Given the description of an element on the screen output the (x, y) to click on. 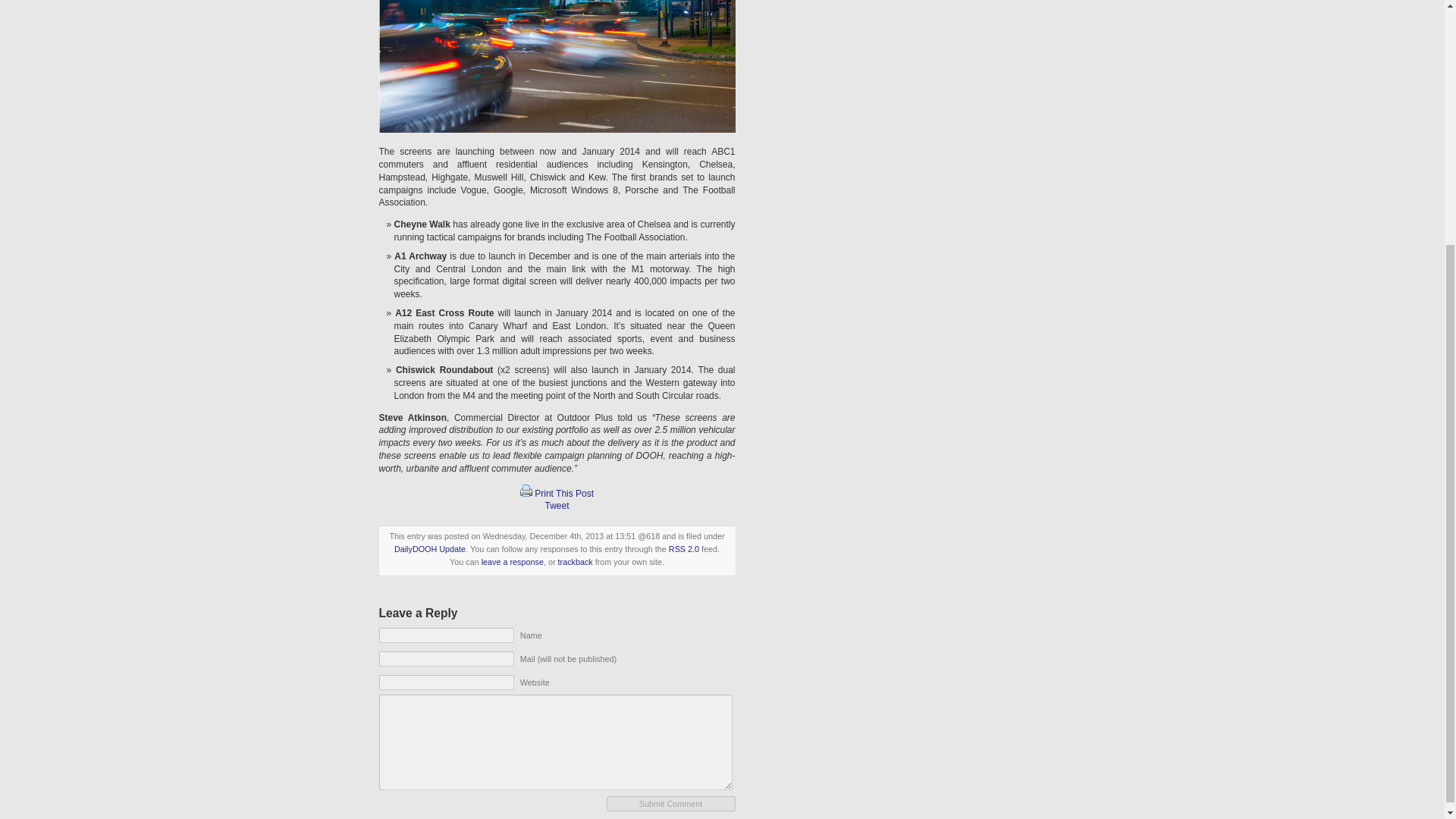
DailyDOOH Update (429, 548)
Print This Post (525, 490)
leave a response (512, 560)
Submit Comment (671, 803)
Tweet (556, 505)
Print This Post (564, 493)
RSS 2.0 (683, 548)
Print This Post (525, 493)
Print This Post (564, 493)
trackback (574, 560)
